Given the description of an element on the screen output the (x, y) to click on. 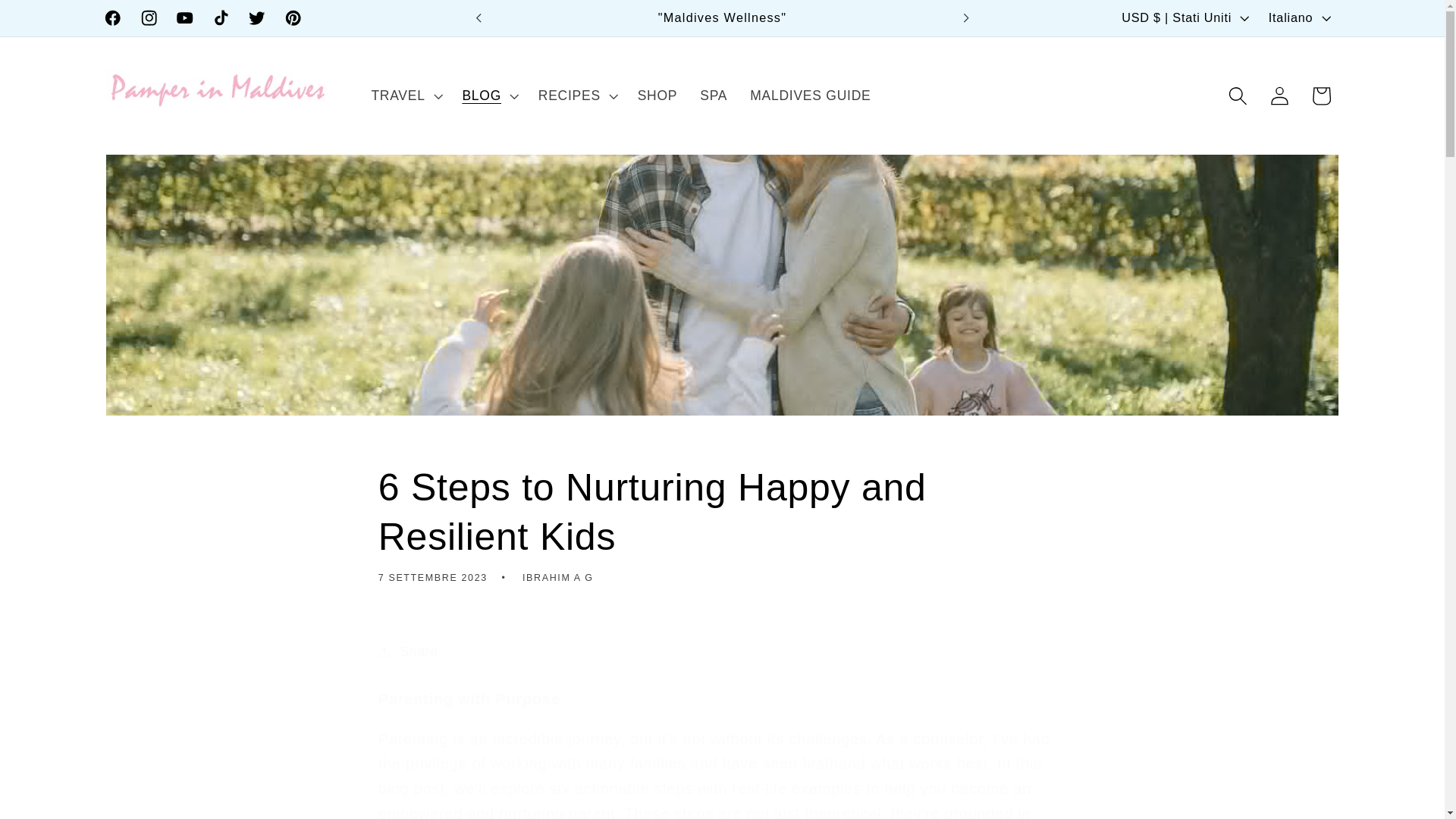
Facebook (112, 18)
Italiano (1297, 18)
YouTube (185, 18)
Twitter (256, 18)
Vai direttamente ai contenuti (57, 21)
Pinterest (293, 18)
Instagram (149, 18)
TikTok (221, 18)
Share (722, 651)
